Given the description of an element on the screen output the (x, y) to click on. 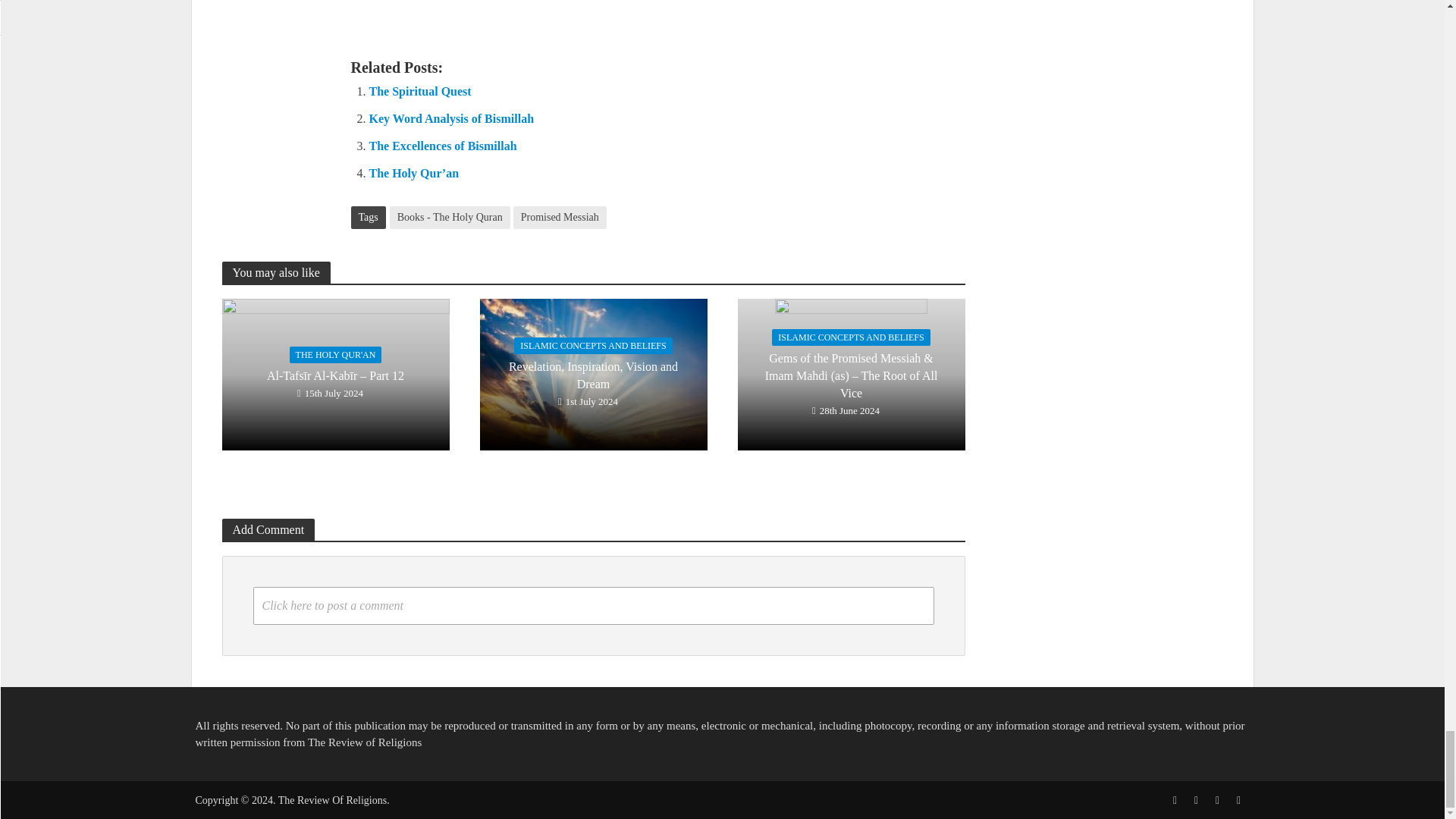
The Spiritual Quest (419, 91)
Revelation, Inspiration, Vision and Dream (592, 373)
Key Word Analysis of Bismillah (451, 118)
The Excellences of Bismillah (442, 145)
